Given the description of an element on the screen output the (x, y) to click on. 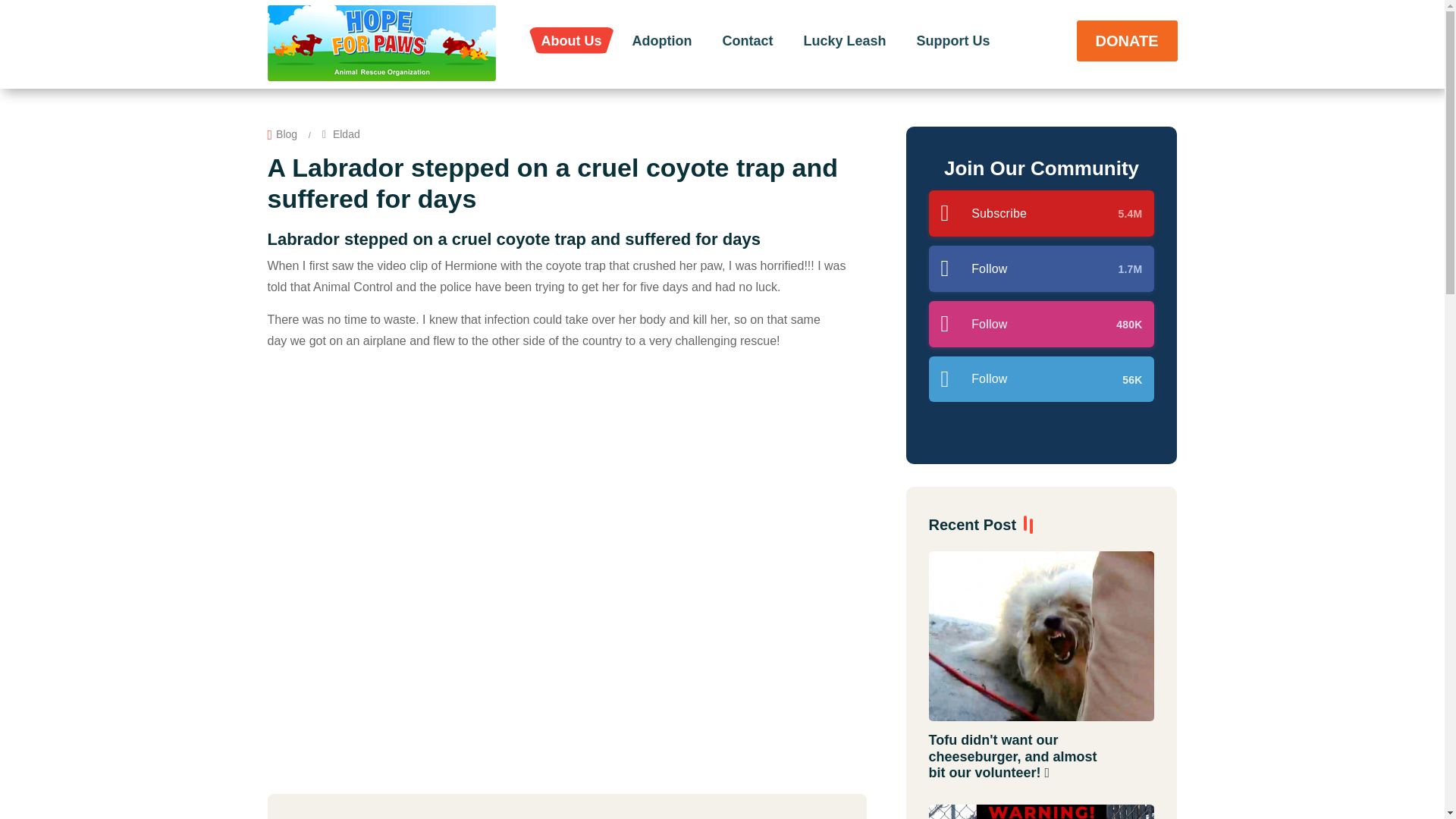
About Us (571, 39)
DONATE (1127, 39)
Hope For Paws Animal Rescue (380, 42)
Support Us (953, 39)
Contact (746, 39)
Blog (286, 134)
Lucky Leash (844, 39)
Adoption (662, 39)
